Given the description of an element on the screen output the (x, y) to click on. 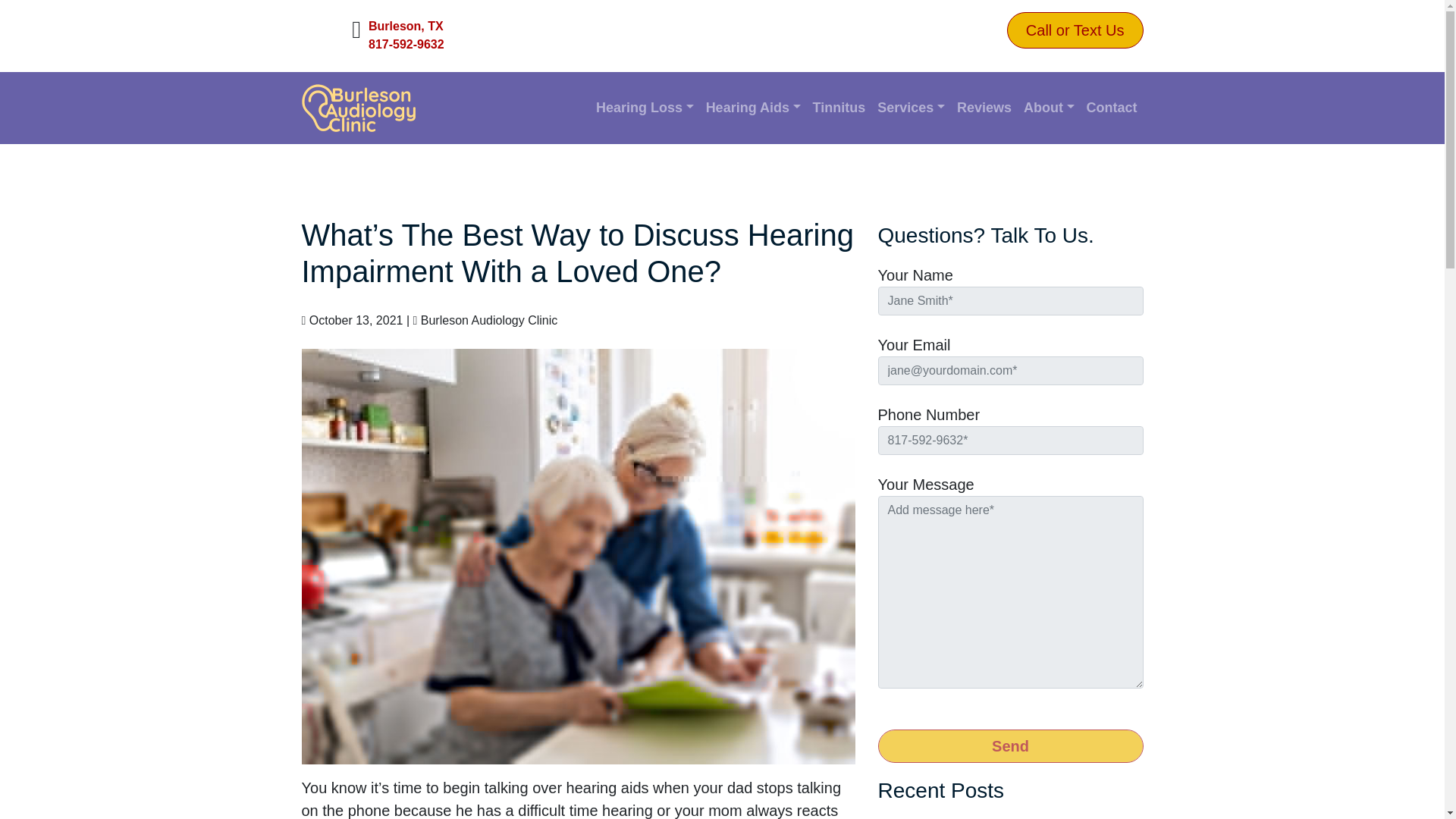
Call or Text Us (1074, 30)
817-592-9632 (406, 45)
Burleson, TX (406, 26)
Send (1009, 745)
Send (1009, 745)
Services (910, 107)
Tinnitus (839, 107)
Hearing Loss (644, 107)
Reviews (983, 107)
Contact (1111, 107)
